Given the description of an element on the screen output the (x, y) to click on. 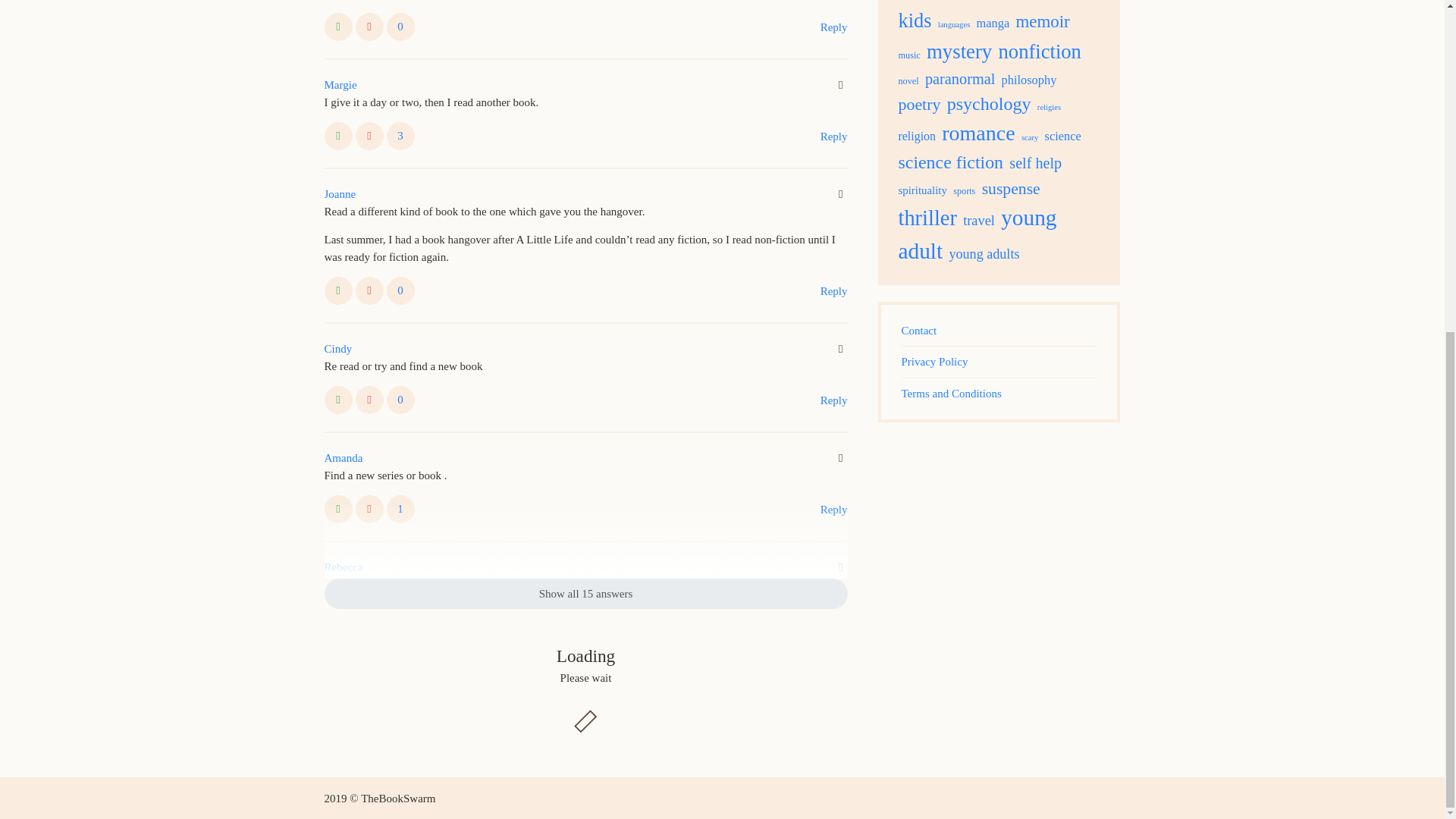
Rating (400, 509)
Reply (834, 135)
Rating (400, 399)
Vote up (338, 290)
Margie (340, 85)
Joanne (340, 194)
Vote down (368, 26)
Reply (834, 26)
Rating (400, 26)
Vote up (338, 26)
Vote up (338, 135)
Vote down (368, 290)
Rating (400, 290)
Rating (400, 135)
Reply (834, 290)
